Given the description of an element on the screen output the (x, y) to click on. 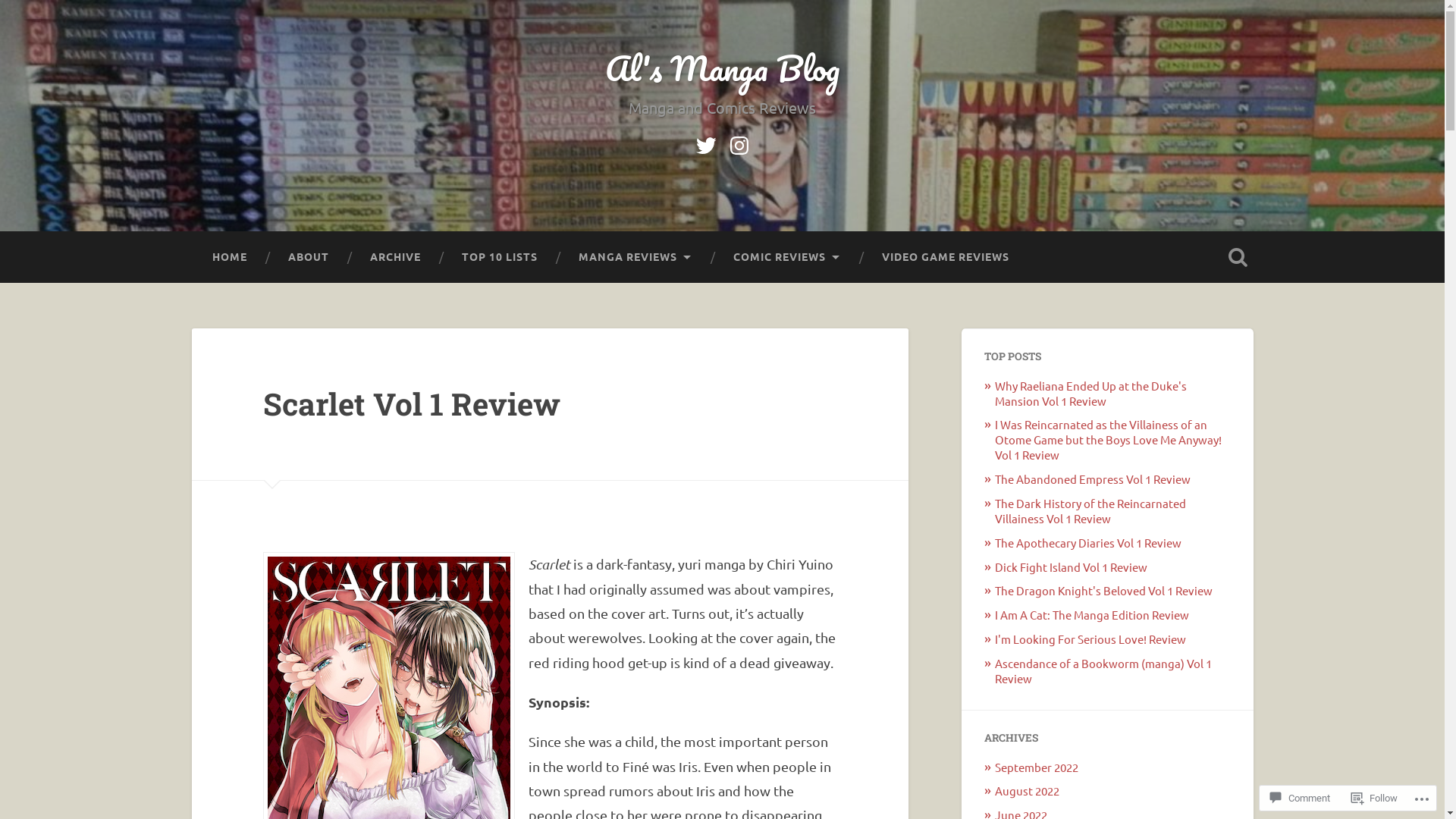
The Dragon Knight's Beloved Vol 1 Review Element type: text (1103, 590)
Open Search Element type: text (1237, 256)
Scarlet Vol 1 Review Element type: text (411, 403)
MANGA REVIEWS Element type: text (635, 256)
VIDEO GAME REVIEWS Element type: text (945, 256)
ABOUT Element type: text (307, 256)
Ascendance of a Bookworm (manga) Vol 1 Review Element type: text (1102, 670)
Why Raeliana Ended Up at the Duke's Mansion Vol 1 Review Element type: text (1090, 392)
The Apothecary Diaries Vol 1 Review Element type: text (1087, 542)
I'm Looking For Serious Love! Review Element type: text (1090, 638)
HOME Element type: text (228, 256)
Follow Element type: text (1374, 797)
COMIC REVIEWS Element type: text (786, 256)
I Am A Cat: The Manga Edition Review Element type: text (1091, 614)
Al's Manga Blog Element type: text (722, 67)
August 2022 Element type: text (1026, 790)
September 2022 Element type: text (1036, 766)
Comment Element type: text (1300, 797)
Dick Fight Island Vol 1 Review Element type: text (1070, 566)
The Dark History of the Reincarnated Villainess Vol 1 Review Element type: text (1090, 510)
ARCHIVE Element type: text (394, 256)
TOP 10 LISTS Element type: text (499, 256)
The Abandoned Empress Vol 1 Review Element type: text (1092, 478)
